Given the description of an element on the screen output the (x, y) to click on. 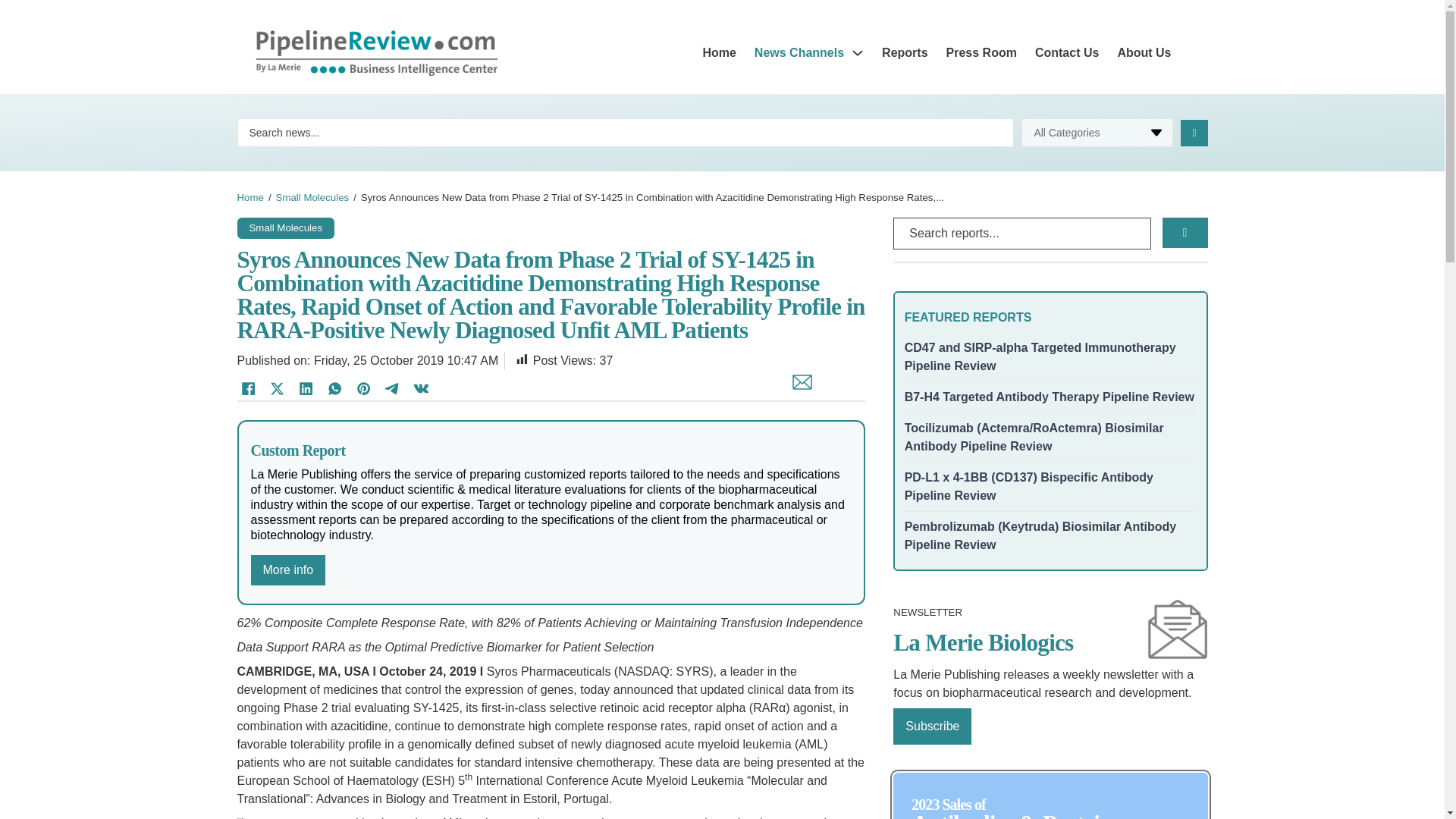
Home (249, 197)
Home (718, 53)
News Channels (799, 53)
Small Molecules (284, 226)
Press Room (981, 53)
Share by Email (798, 389)
Contact Us (1067, 53)
Reports (904, 53)
Small Molecules (312, 197)
Share by Email (798, 389)
